Given the description of an element on the screen output the (x, y) to click on. 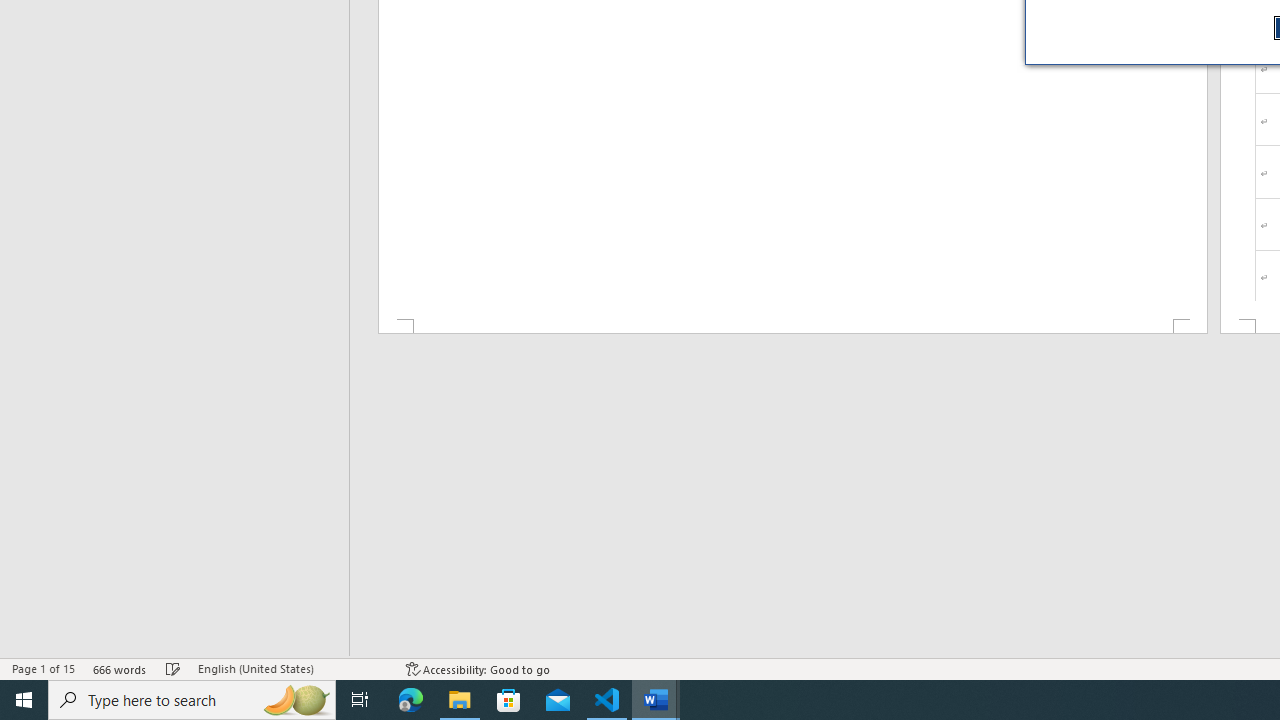
Word Count 666 words (119, 668)
